Given the description of an element on the screen output the (x, y) to click on. 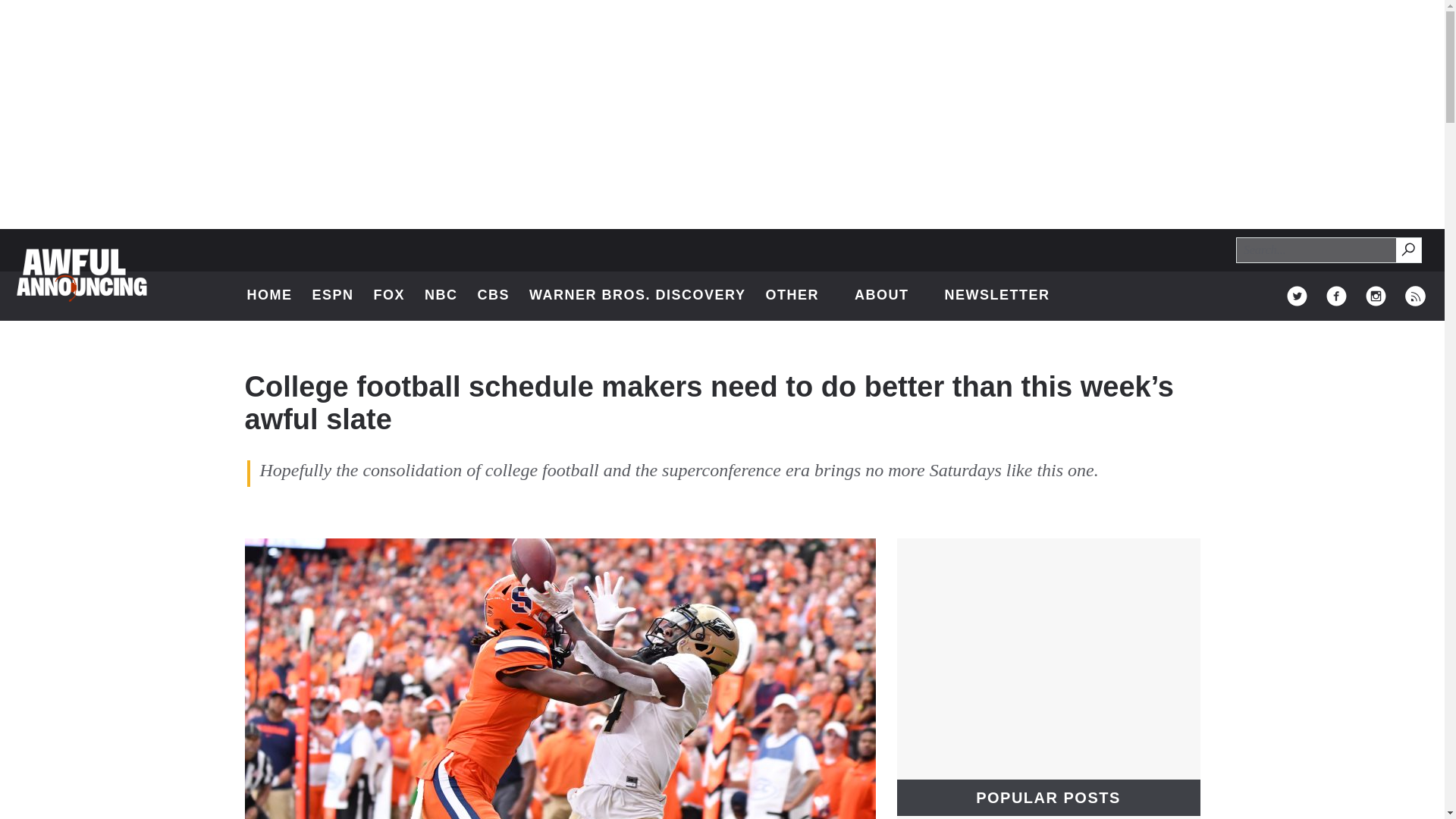
CBS (1409, 249)
WARNER BROS. DISCOVERY (493, 296)
ESPN (636, 296)
OTHER (332, 296)
Link to Instagram (799, 296)
Link to RSS (1375, 296)
FOX (1414, 296)
SEARCH (390, 296)
Link to Facebook (1407, 249)
